Given the description of an element on the screen output the (x, y) to click on. 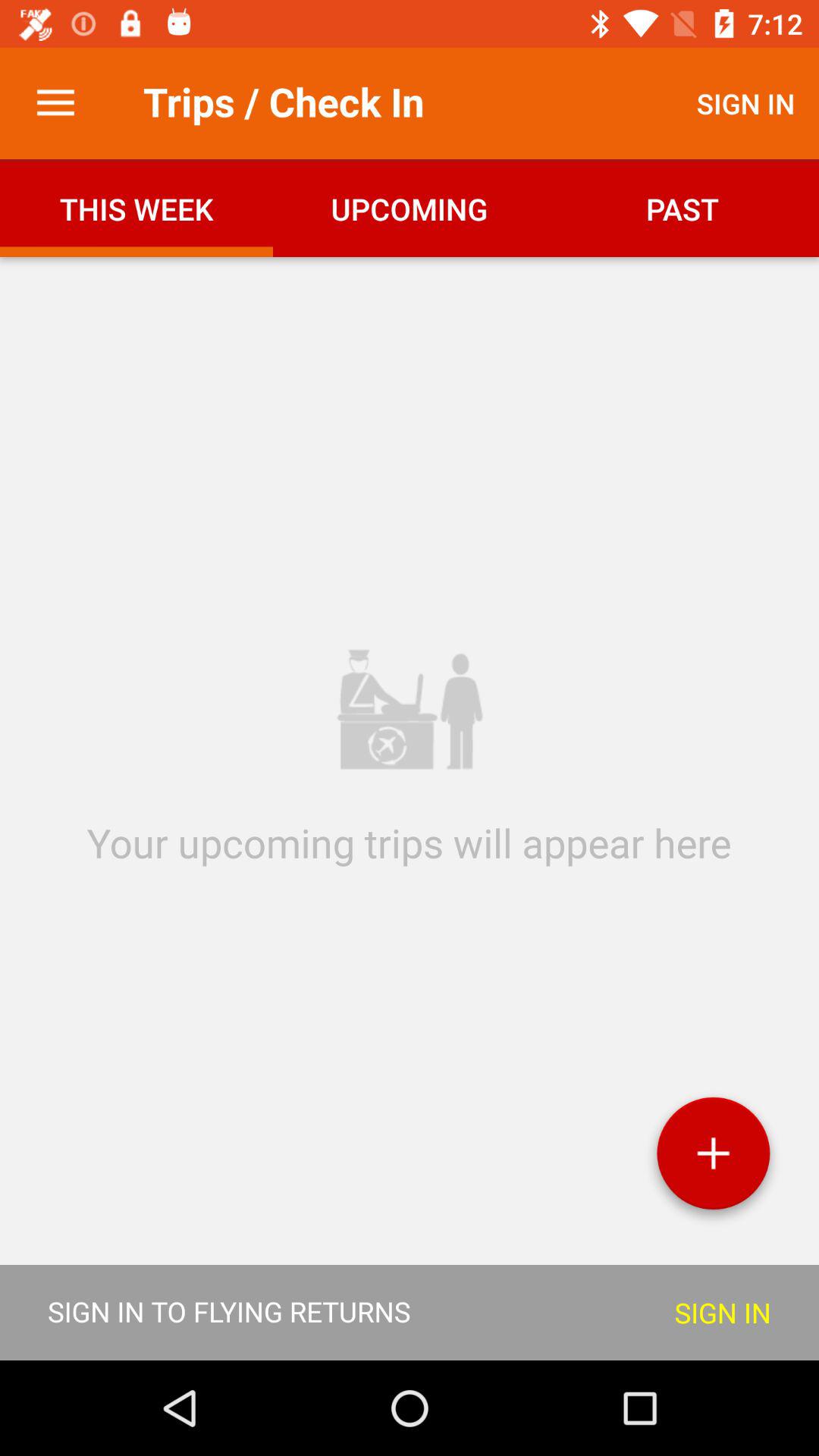
launch icon below your upcoming trips item (713, 1159)
